Given the description of an element on the screen output the (x, y) to click on. 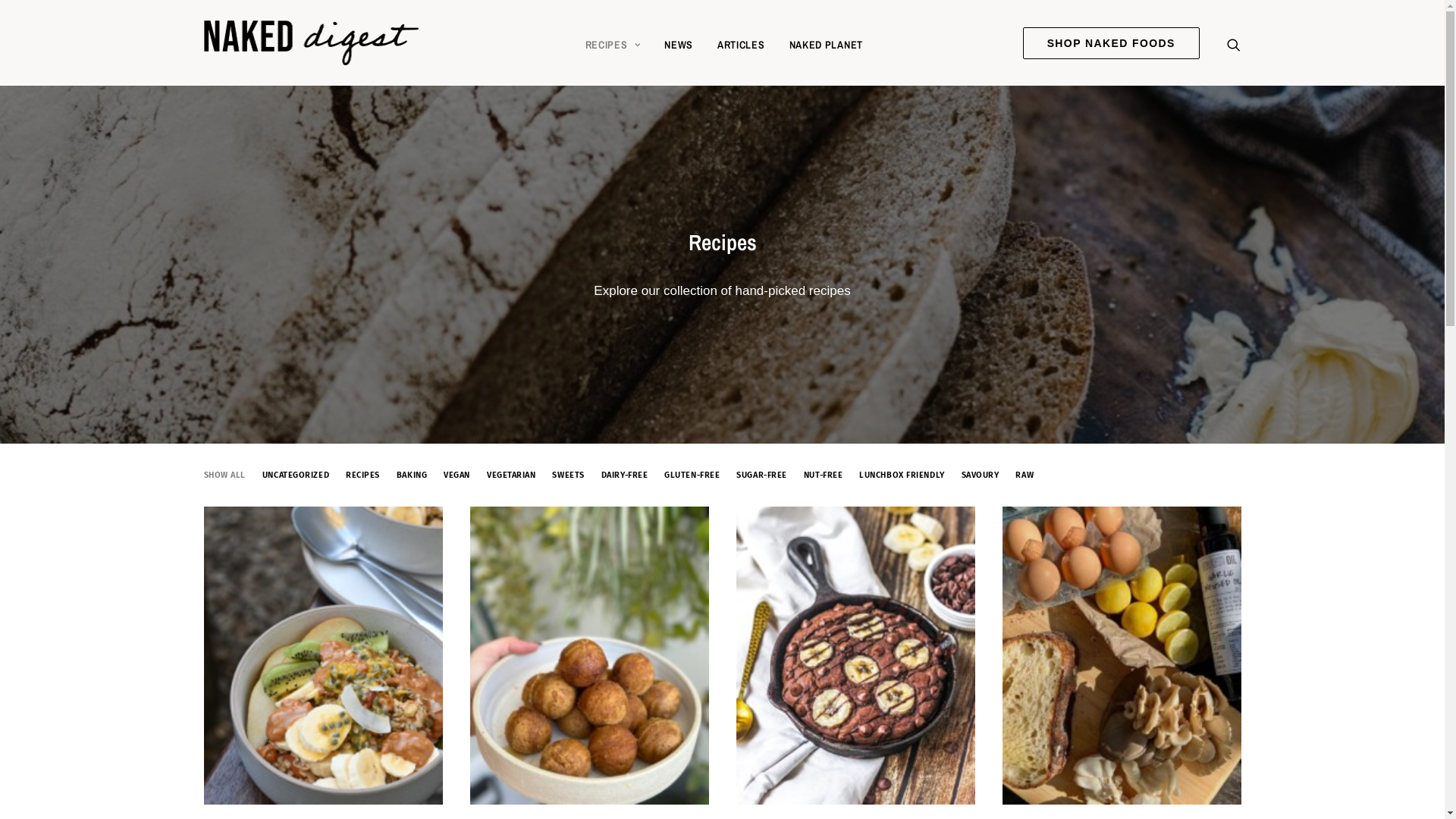
SUGAR-FREE Element type: text (761, 474)
NEWS Element type: text (678, 42)
SWEETS Element type: text (567, 474)
UNCATEGORIZED Element type: text (295, 474)
RAW Element type: text (1024, 474)
NUT-FREE Element type: text (822, 474)
DAIRY-FREE Element type: text (624, 474)
ARTICLES Element type: text (740, 42)
RECIPES Element type: text (612, 42)
VEGAN Element type: text (456, 474)
SHOW ALL Element type: text (223, 474)
VEGETARIAN Element type: text (511, 474)
LUNCHBOX FRIENDLY Element type: text (901, 474)
RECIPES Element type: text (362, 474)
SHOP NAKED FOODS Element type: text (1114, 43)
BAKING Element type: text (411, 474)
NAKED PLANET Element type: text (825, 42)
SAVOURY Element type: text (980, 474)
GLUTEN-FREE Element type: text (691, 474)
